Given the description of an element on the screen output the (x, y) to click on. 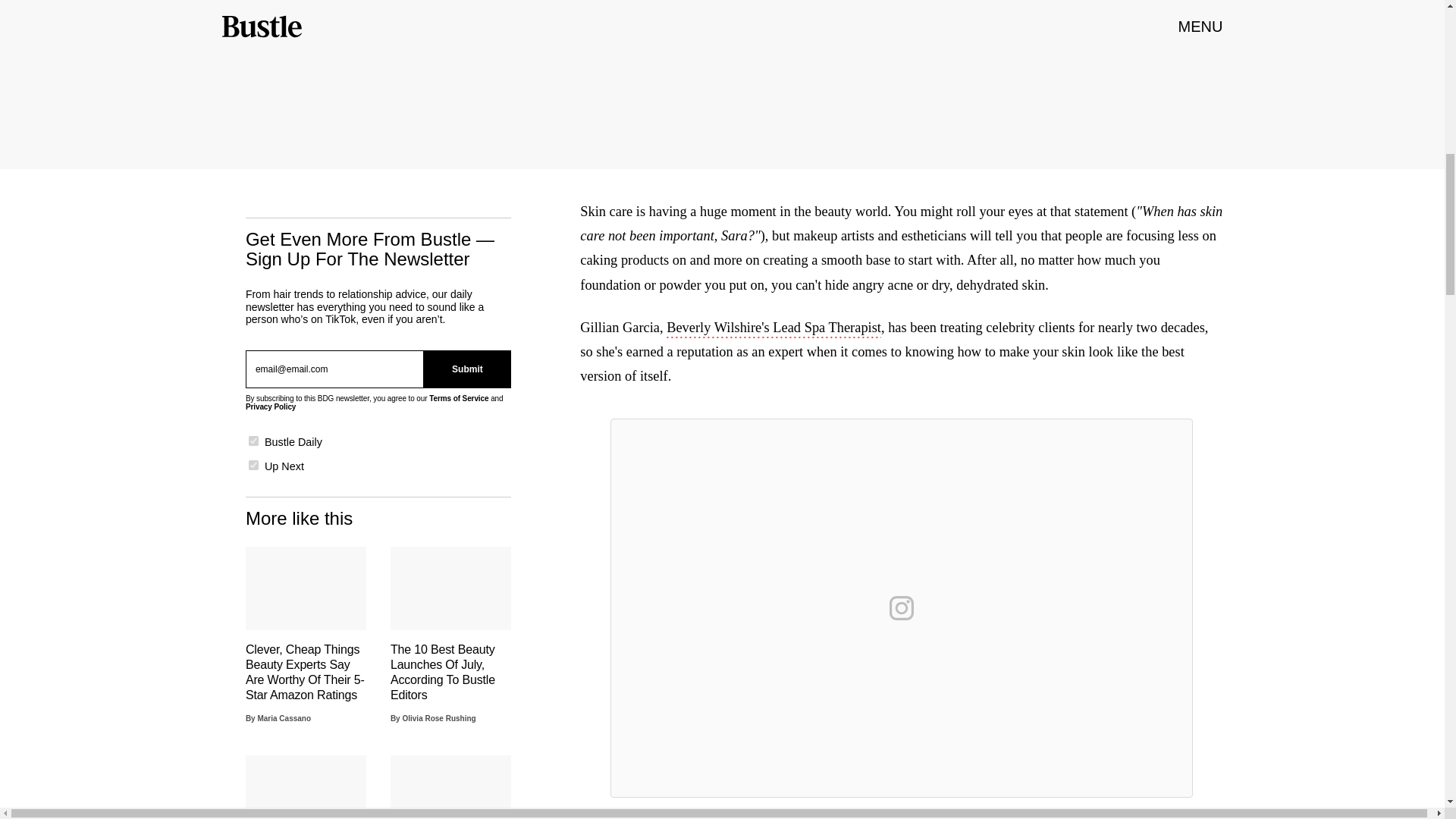
Beverly Wilshire's Lead Spa Therapist (773, 329)
View on Instagram (901, 607)
Privacy Policy (270, 406)
Terms of Service (458, 397)
A Proper Scalp Care Routine Can Make Or Break Good Hair Days (450, 787)
Submit (467, 369)
